Given the description of an element on the screen output the (x, y) to click on. 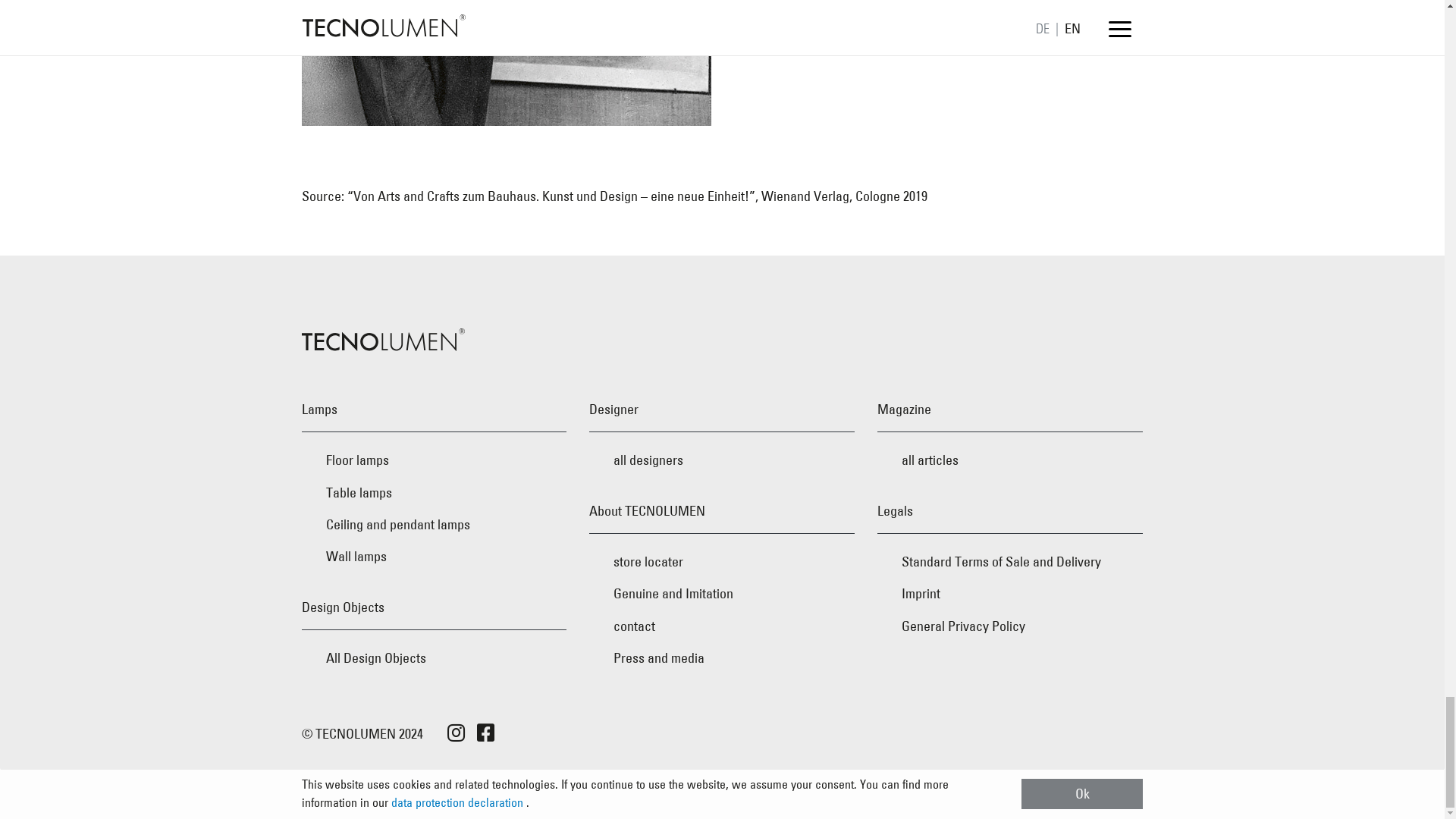
Design Objects (434, 607)
contact (721, 626)
Genuine and Imitation (721, 593)
Ceiling and pendant lamps (434, 524)
Wall lamps (434, 556)
all designers (721, 459)
About TECNOLUMEN (721, 510)
store locater (721, 562)
all articles (1009, 459)
Floor lamps (434, 459)
General Privacy Policy (1009, 626)
Press and media (721, 658)
Table lamps (434, 492)
Imprint (1009, 593)
All Design Objects (434, 658)
